Given the description of an element on the screen output the (x, y) to click on. 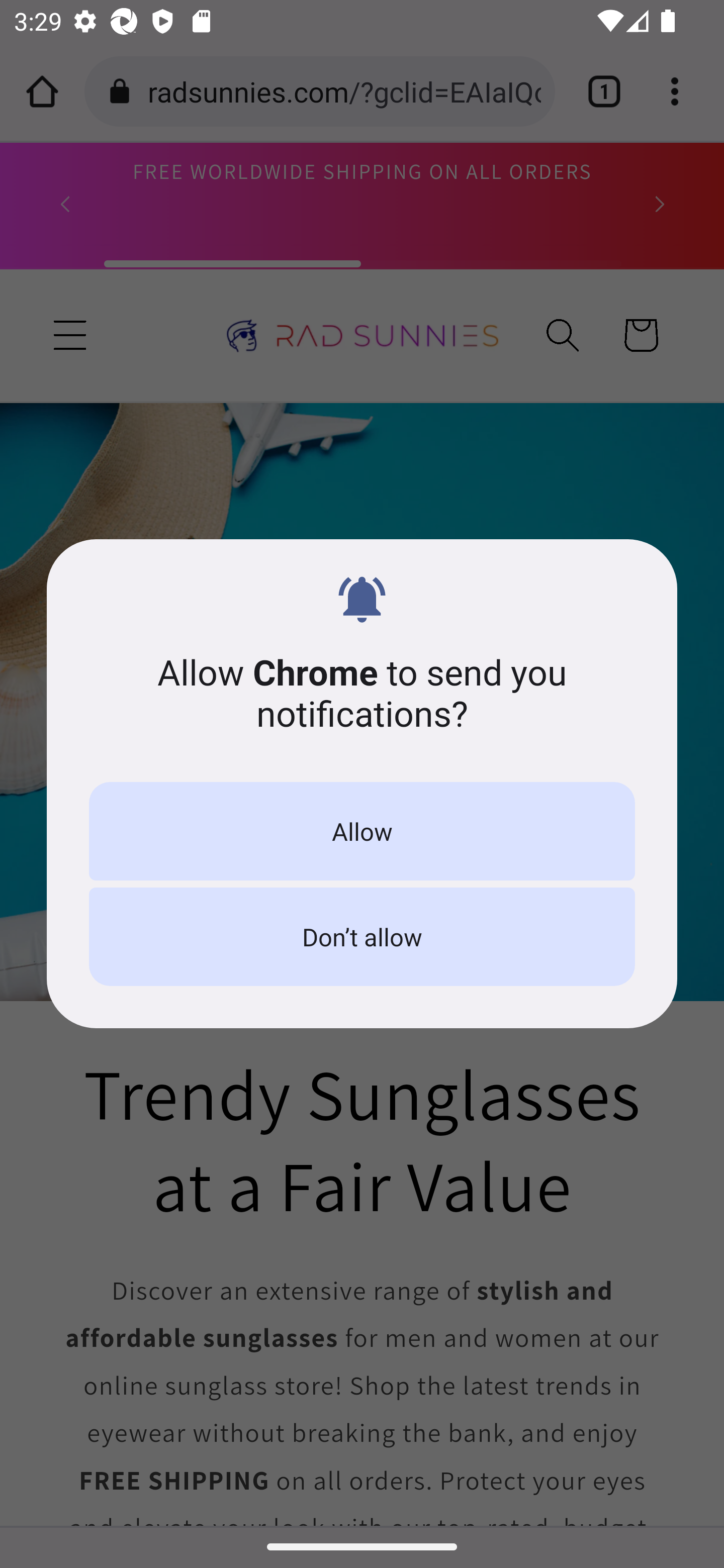
Allow (361, 831)
Don’t allow (361, 936)
